Given the description of an element on the screen output the (x, y) to click on. 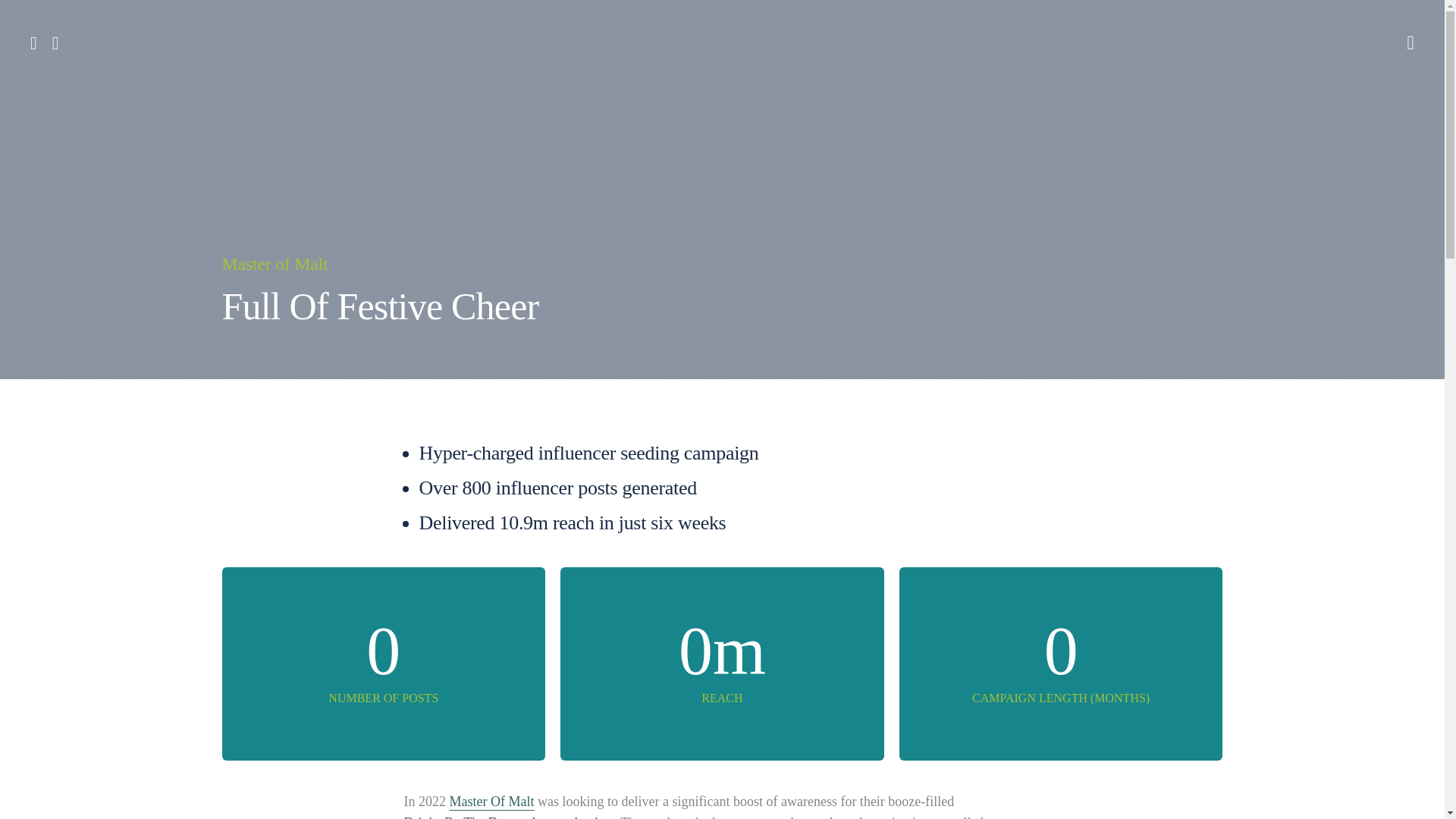
Master of Malt (274, 264)
Master Of Malt (491, 801)
Master of Malt (274, 264)
Drinks By The Dram advent calendars (507, 815)
